Given the description of an element on the screen output the (x, y) to click on. 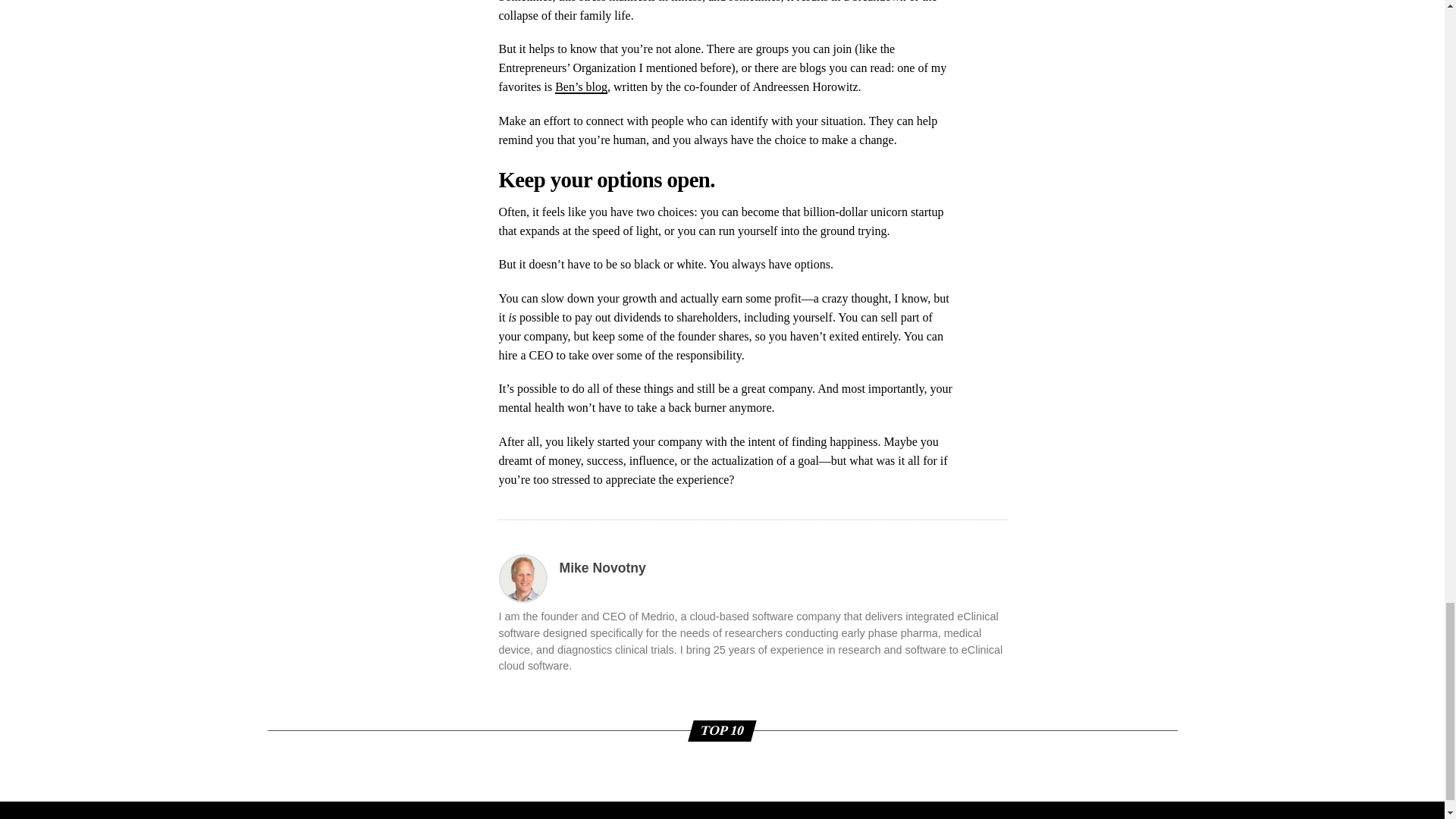
Mike Novotny (602, 567)
Posts by Mike Novotny (602, 567)
